Given the description of an element on the screen output the (x, y) to click on. 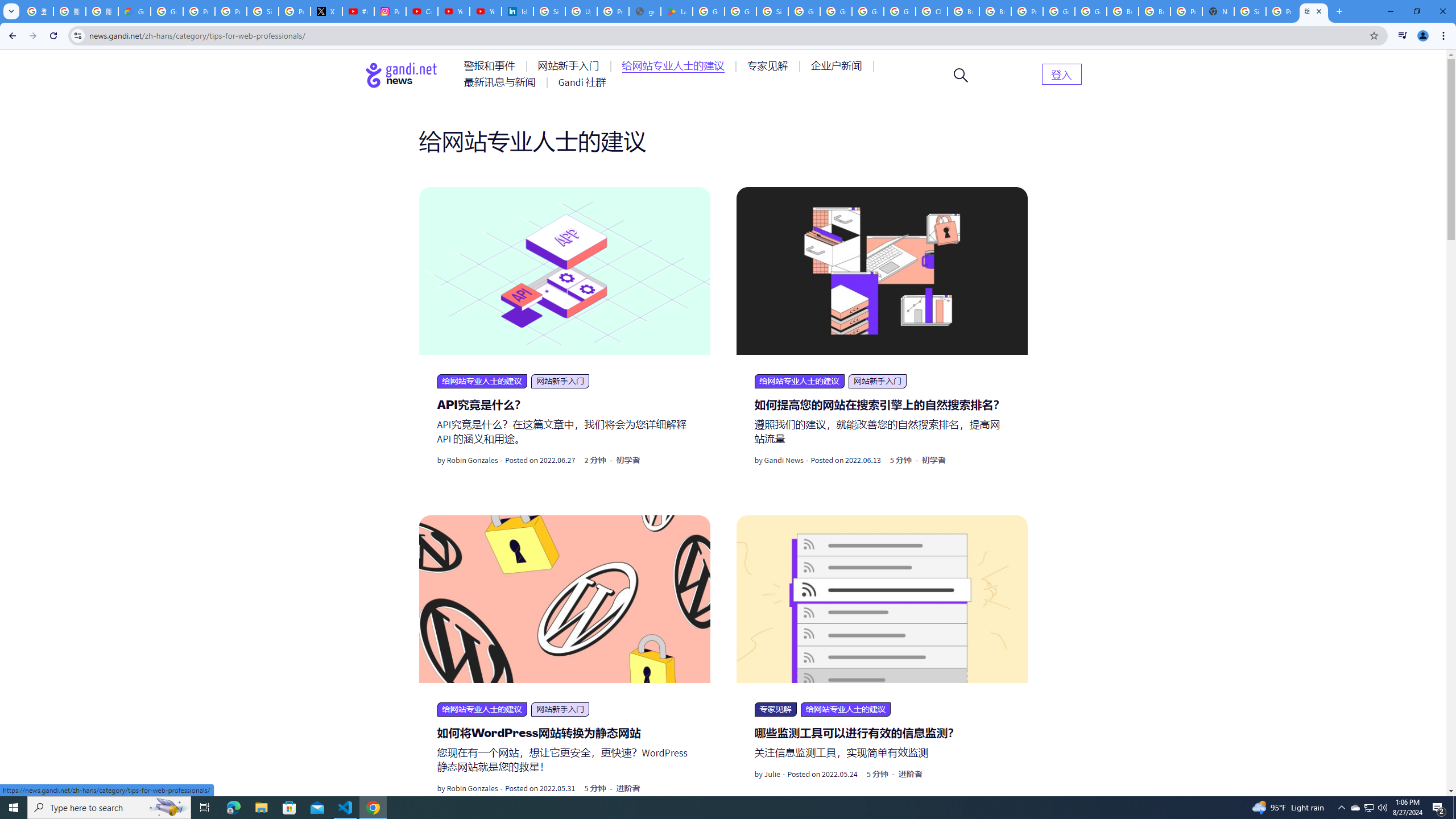
New Tab (1217, 11)
Privacy Help Center - Policies Help (198, 11)
Julie (772, 774)
AutomationID: menu-item-77764 (769, 65)
Google Cloud Platform (868, 11)
AutomationID: menu-item-82399 (1061, 73)
AutomationID: menu-item-77761 (492, 65)
